Given the description of an element on the screen output the (x, y) to click on. 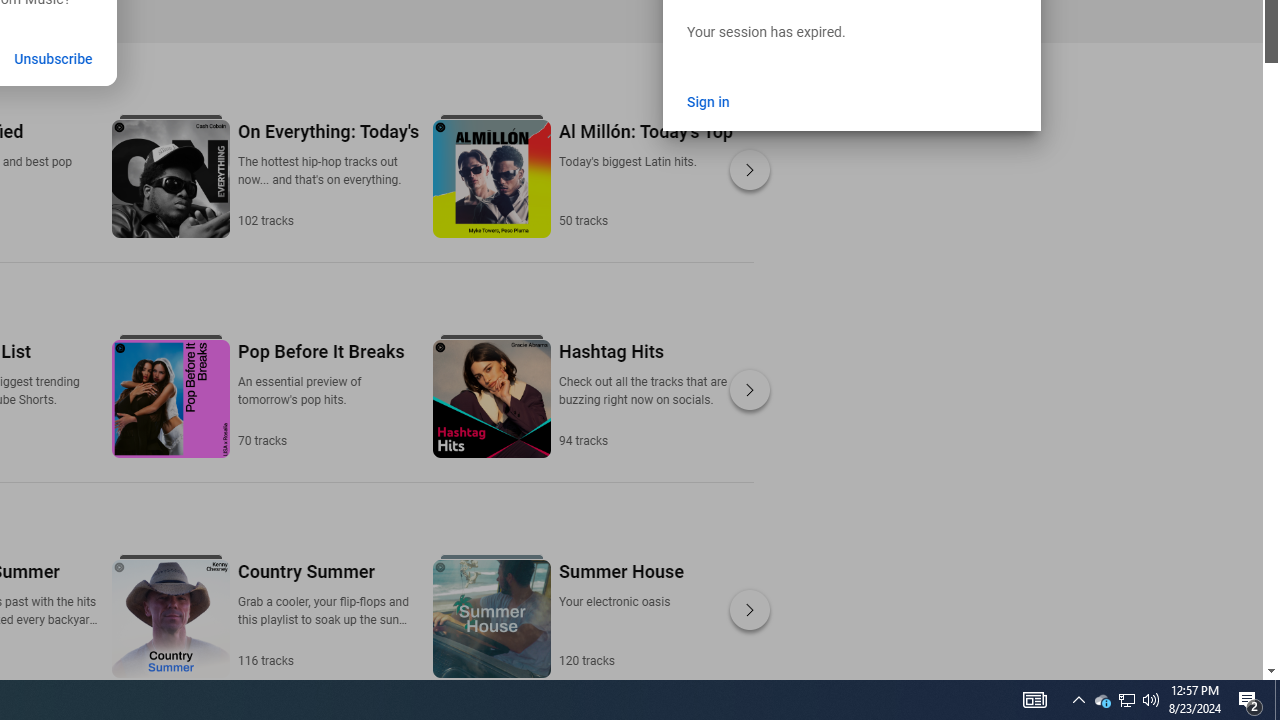
Summer House Your electronic oasis 120 tracks (620, 614)
